Given the description of an element on the screen output the (x, y) to click on. 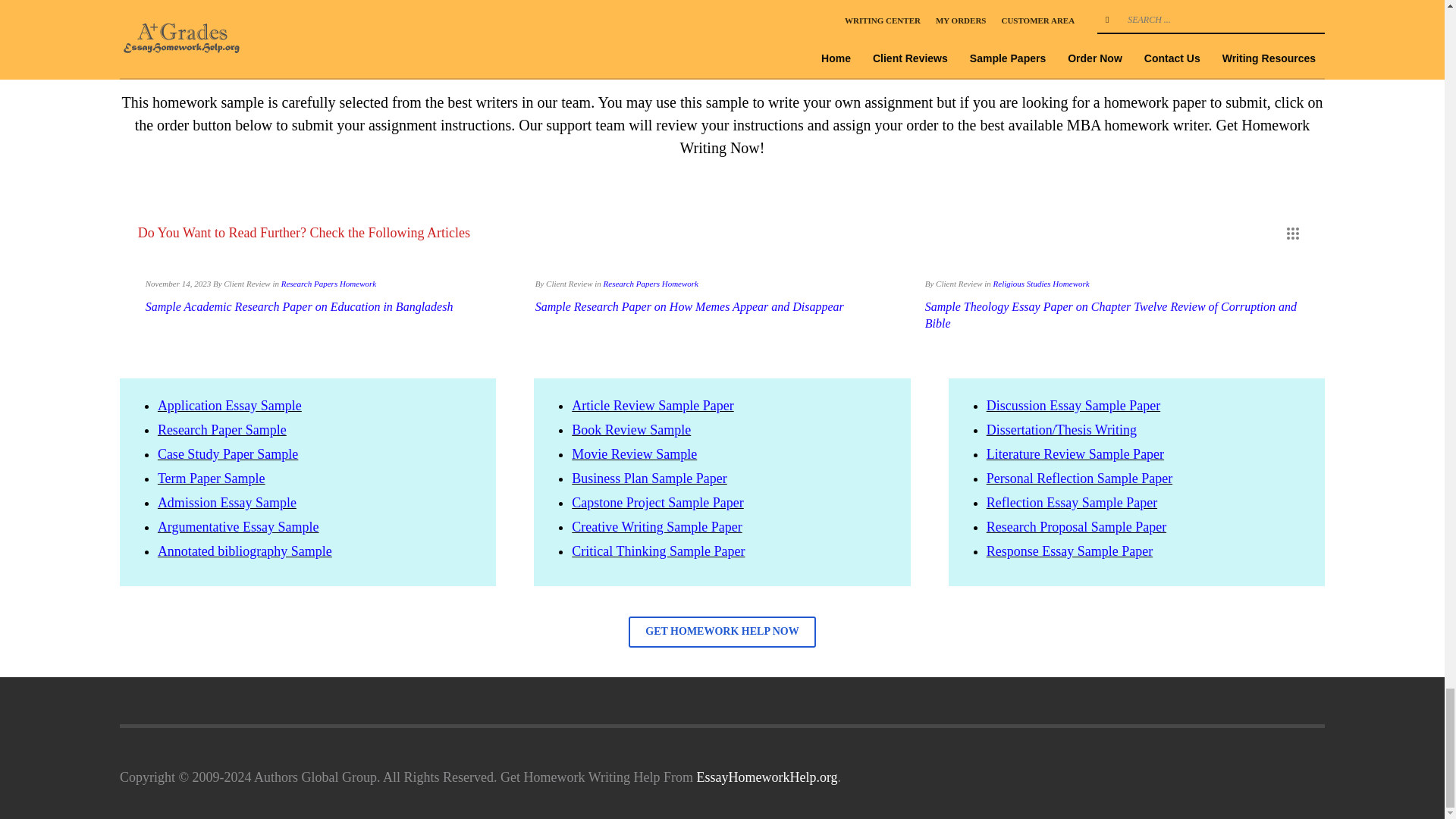
Research Paper Sample (221, 429)
Book Review Sample (631, 429)
Article Review Sample Paper (652, 405)
Argumentative Essay Sample (237, 526)
Research Papers Homework (328, 283)
Annotated bibliography Sample (244, 550)
View all posts in Religious Studies Homework (1040, 283)
Religious Studies Homework (1040, 283)
Admission Essay Sample (227, 502)
